Given the description of an element on the screen output the (x, y) to click on. 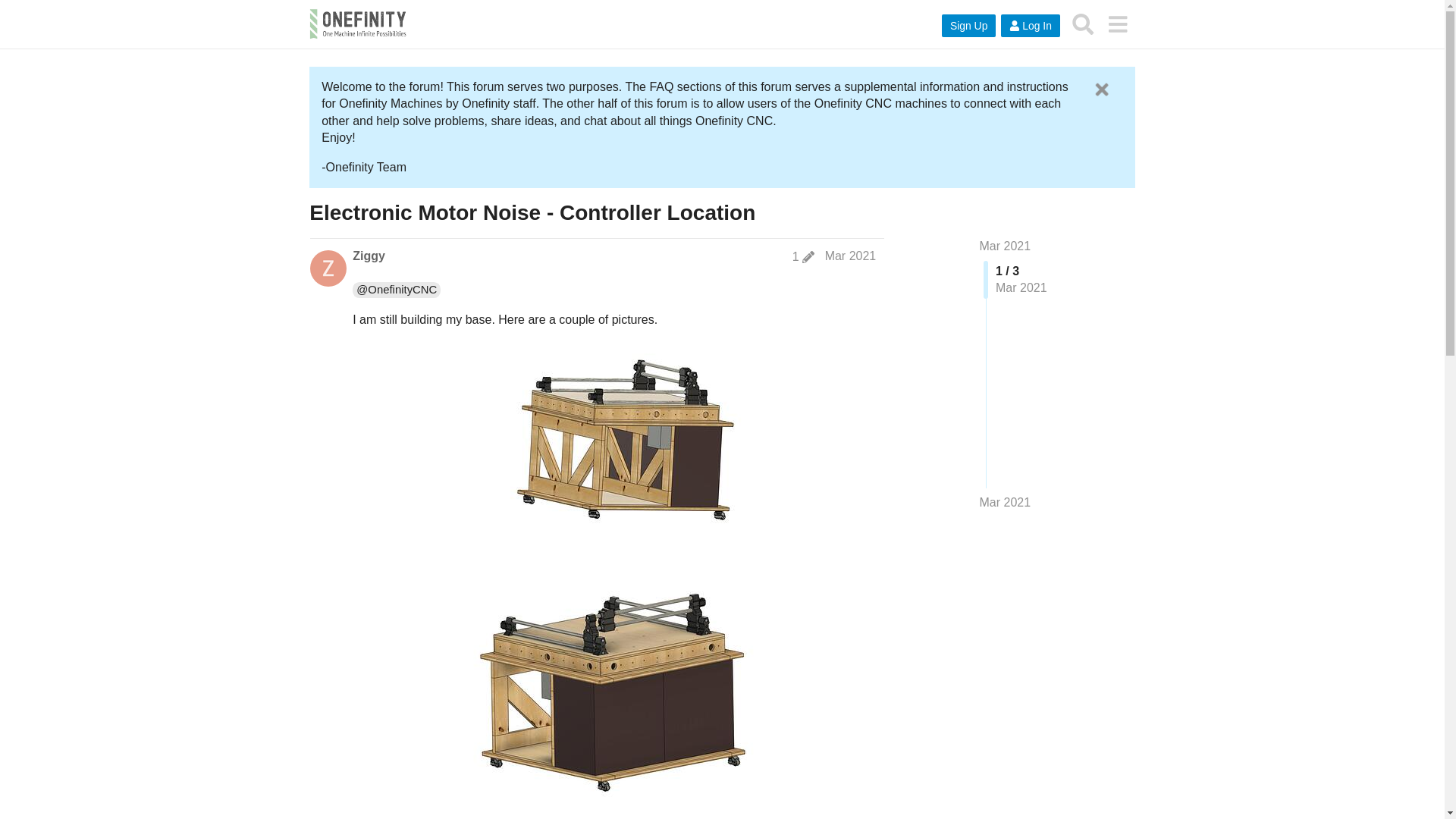
Mar 2021 (850, 255)
Search (1082, 23)
Mar 2021 (1004, 245)
Jump to the last post (1004, 502)
Mar 2021 (1004, 502)
Log In (1030, 25)
Electronic Motor Noise - Controller Location (531, 212)
Post date (850, 255)
post last edited on Mar 22, 2021 3:29 am (802, 256)
menu (1117, 23)
Dismiss this banner (1101, 88)
Sign Up (968, 25)
enclosure v51 (614, 454)
Jump to the first post (1004, 245)
1 (802, 256)
